Given the description of an element on the screen output the (x, y) to click on. 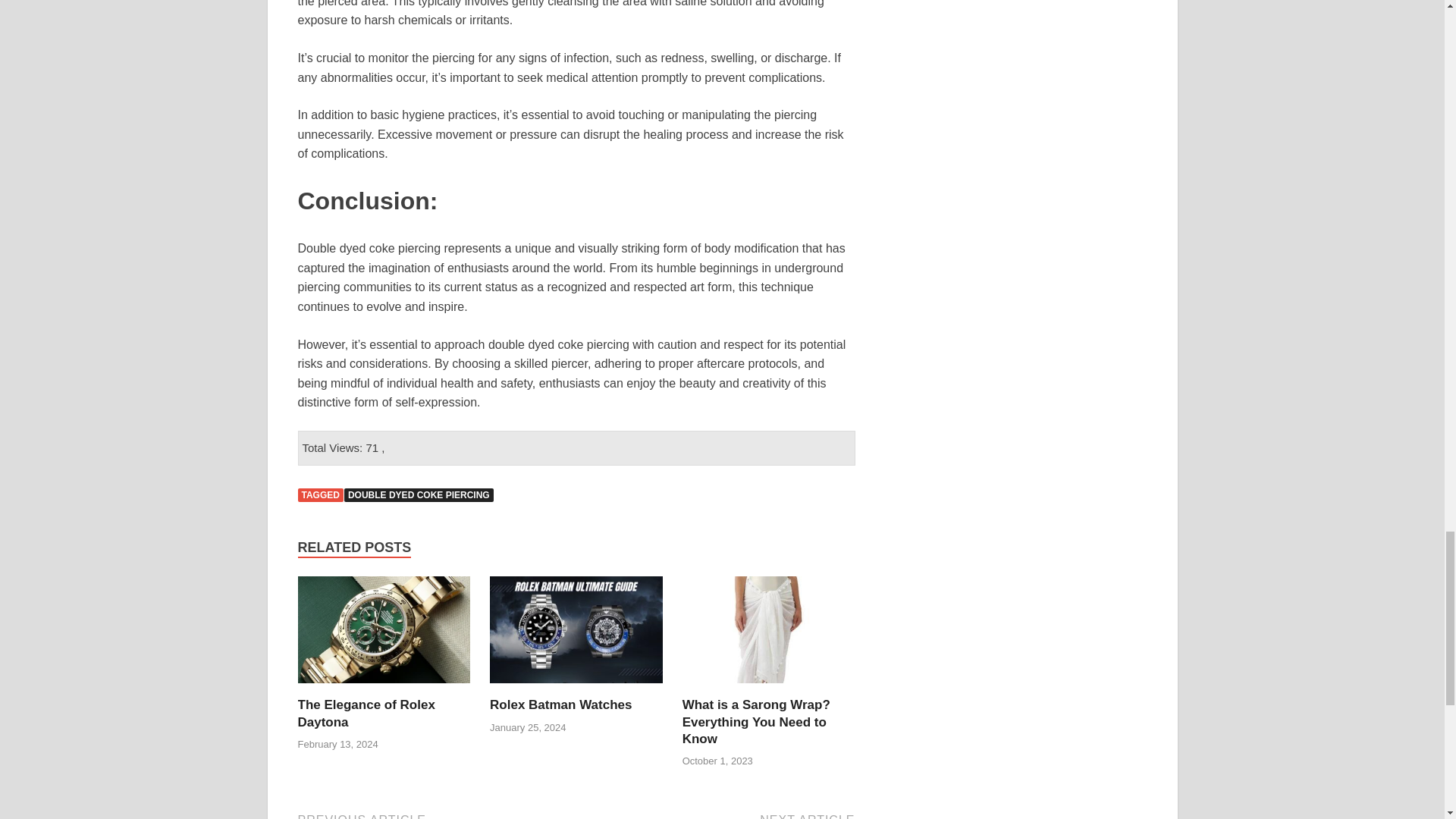
What is a Sarong Wrap? Everything You Need to Know (755, 721)
Rolex Batman Watches (575, 686)
Rolex Batman Watches (560, 704)
What is a Sarong Wrap? Everything You Need to Know (769, 686)
The Elegance of Rolex Daytona (383, 686)
The Elegance of Rolex Daytona (365, 712)
